Given the description of an element on the screen output the (x, y) to click on. 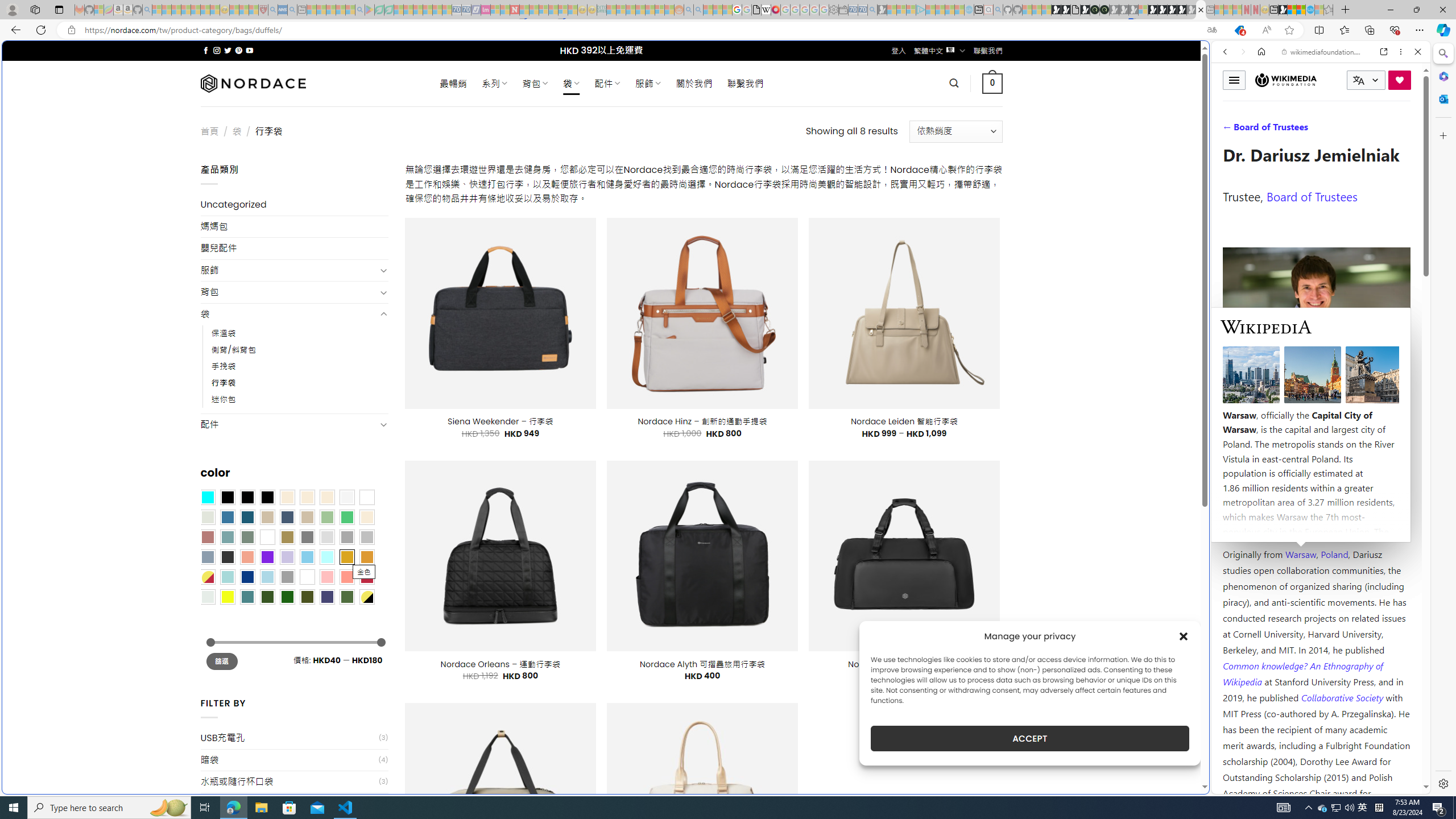
Frequently visited (965, 151)
WEB   (1230, 130)
wikimediafoundation.org (1323, 51)
google_privacy_policy_zh-CN.pdf (1118, 683)
google_privacy_policy_zh-CN.pdf (755, 9)
Search Filter, WEB (1230, 129)
